Given the description of an element on the screen output the (x, y) to click on. 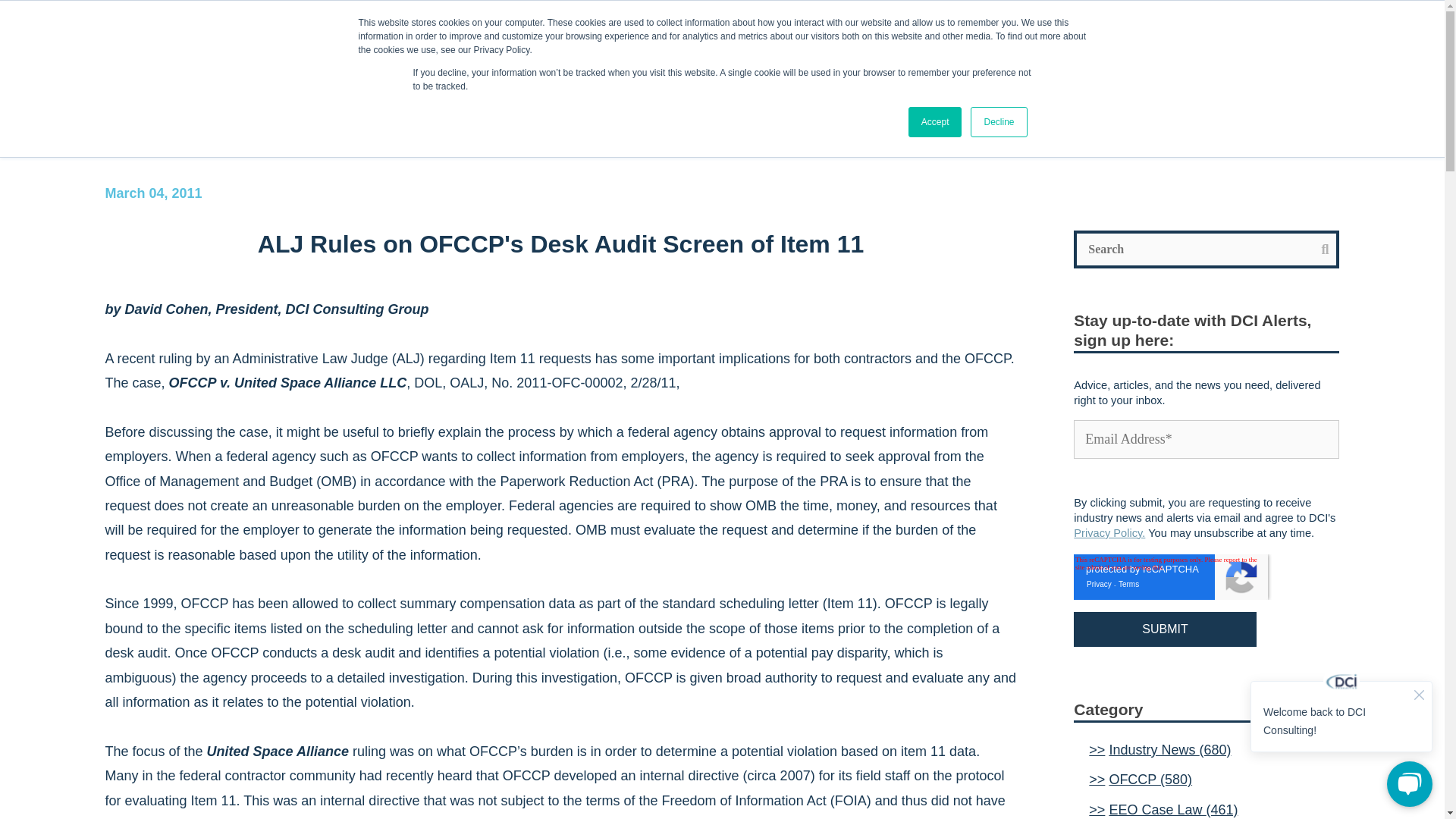
About DCI (861, 53)
Resources (964, 53)
Compliance (124, 116)
Industries (1065, 53)
Decline (998, 122)
Accept (935, 122)
reCAPTCHA (1171, 576)
Submit (1164, 629)
Contact Us (1168, 53)
